Given the description of an element on the screen output the (x, y) to click on. 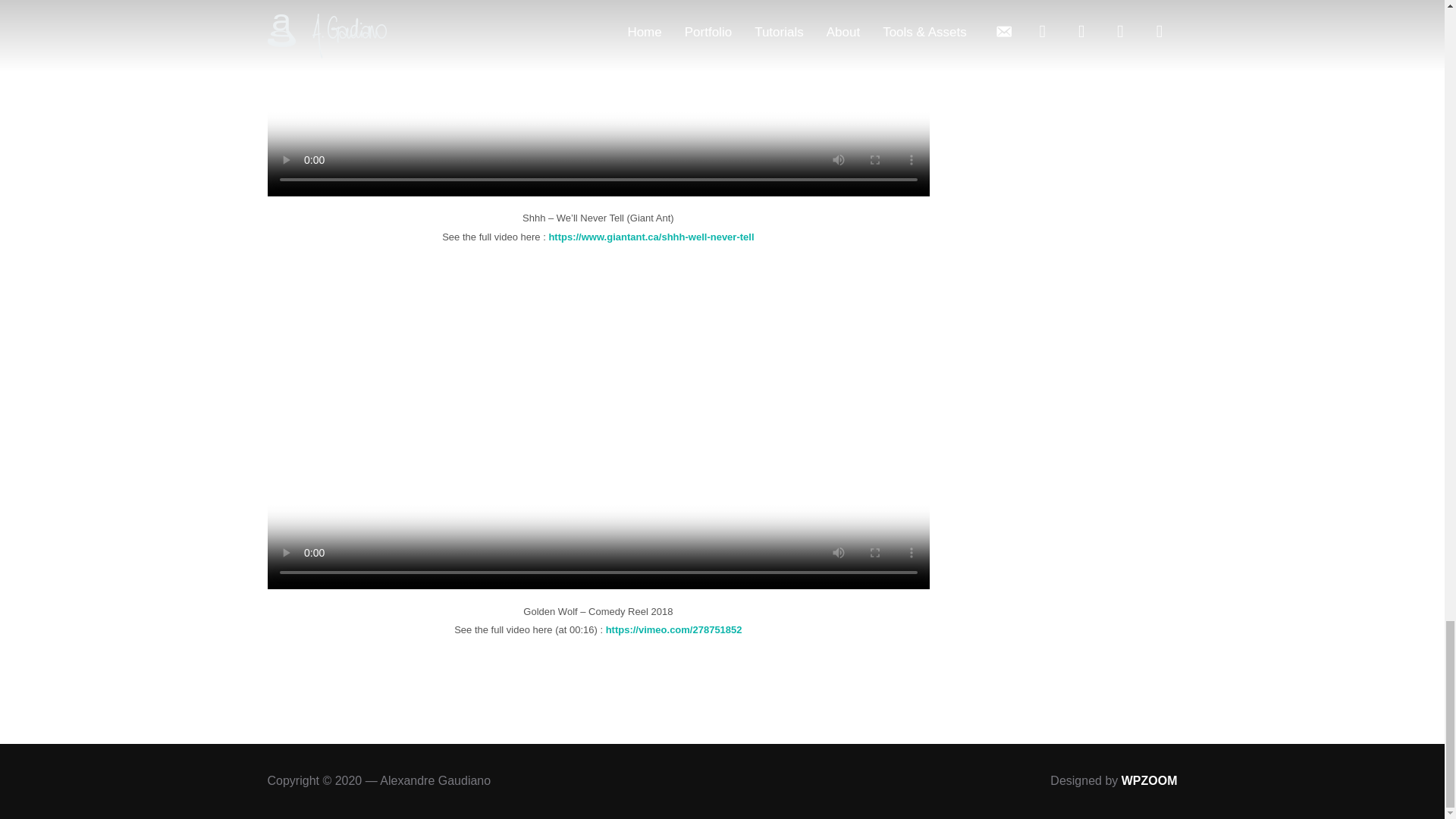
WPZOOM (1149, 780)
